Given the description of an element on the screen output the (x, y) to click on. 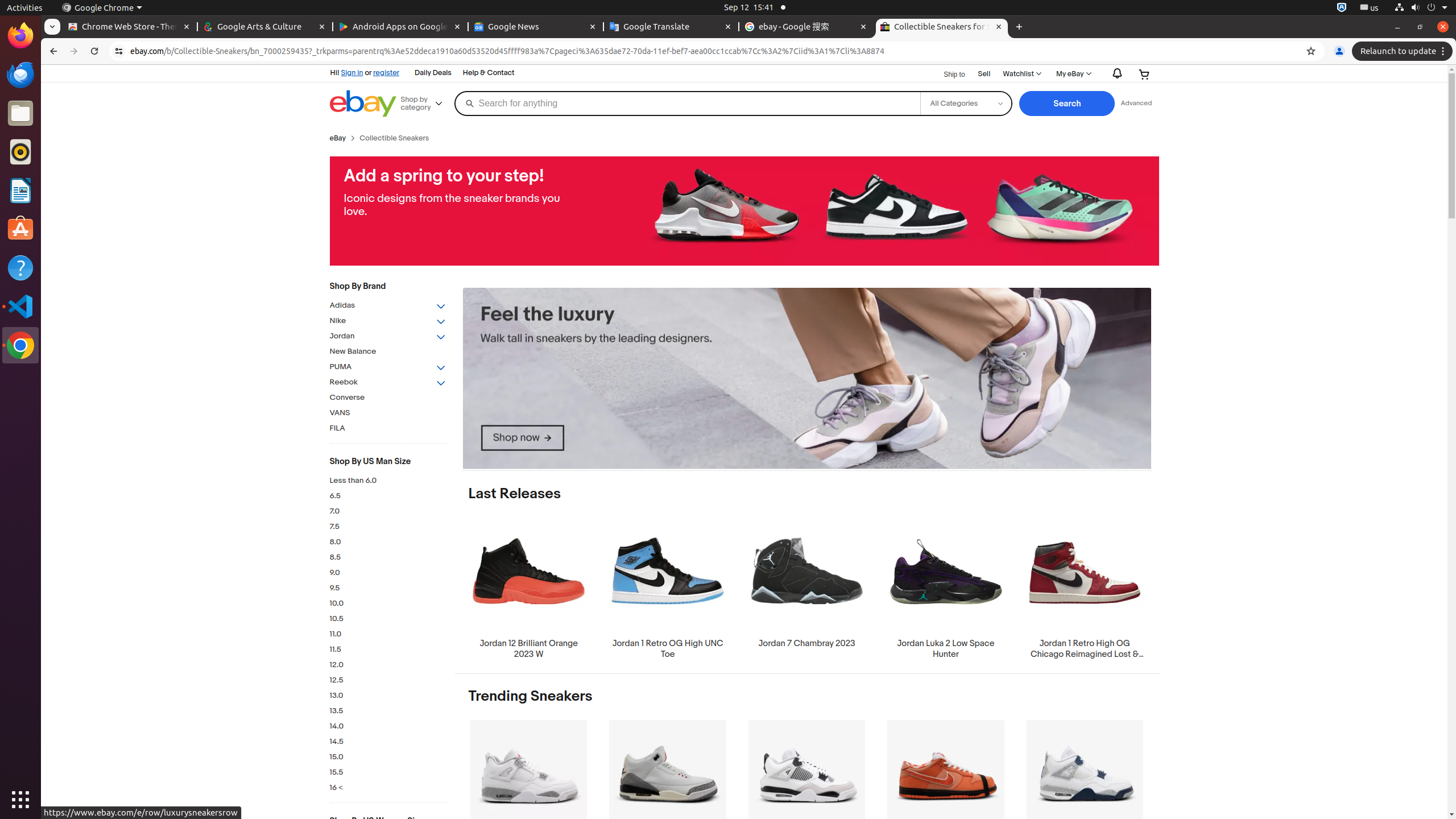
Relaunch to update Element type: push-button (1403, 50)
Google Arts & Culture - Memory usage - 58.2 MB Element type: page-tab (264, 26)
